Given the description of an element on the screen output the (x, y) to click on. 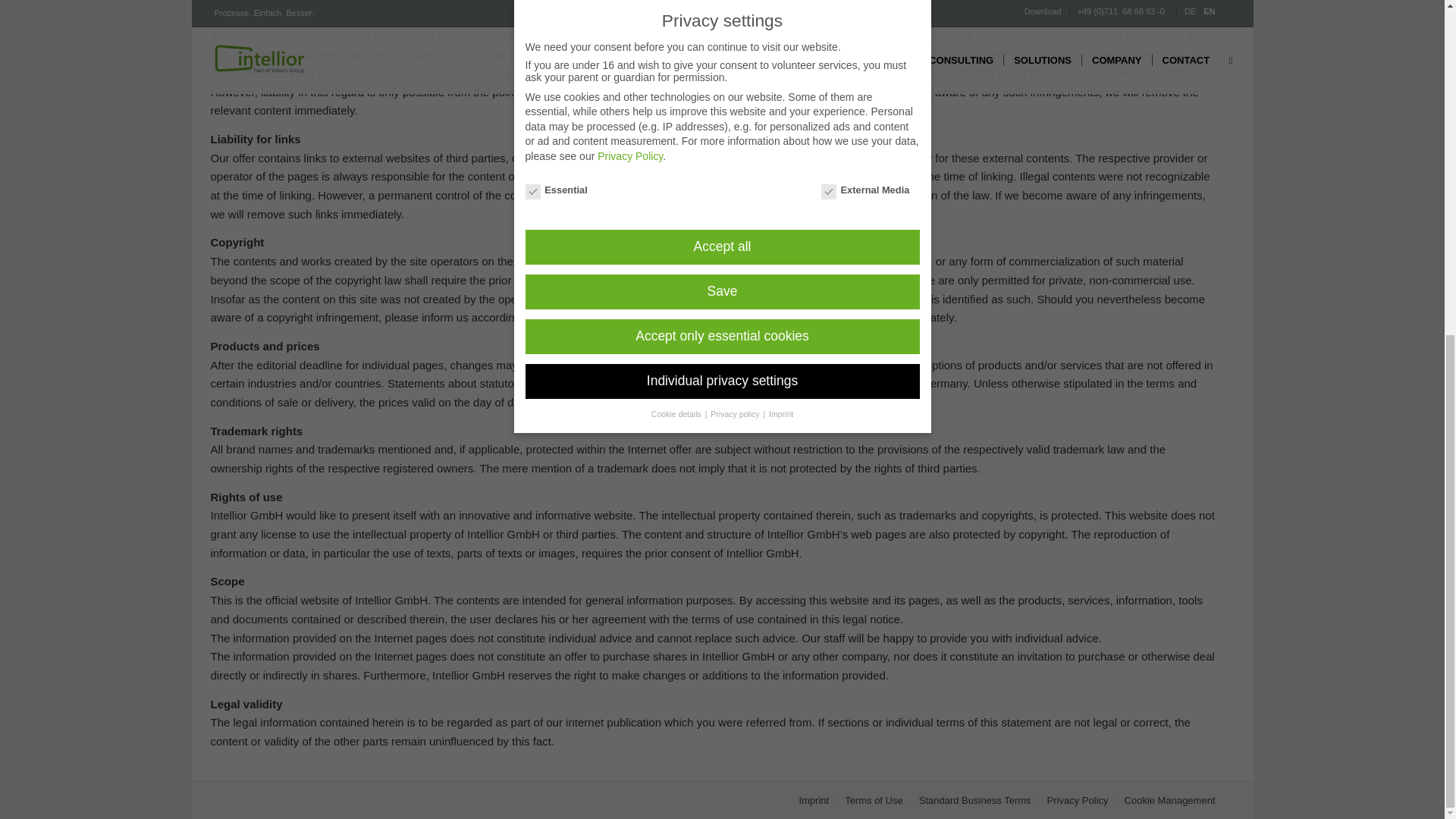
Imprint (812, 799)
